Given the description of an element on the screen output the (x, y) to click on. 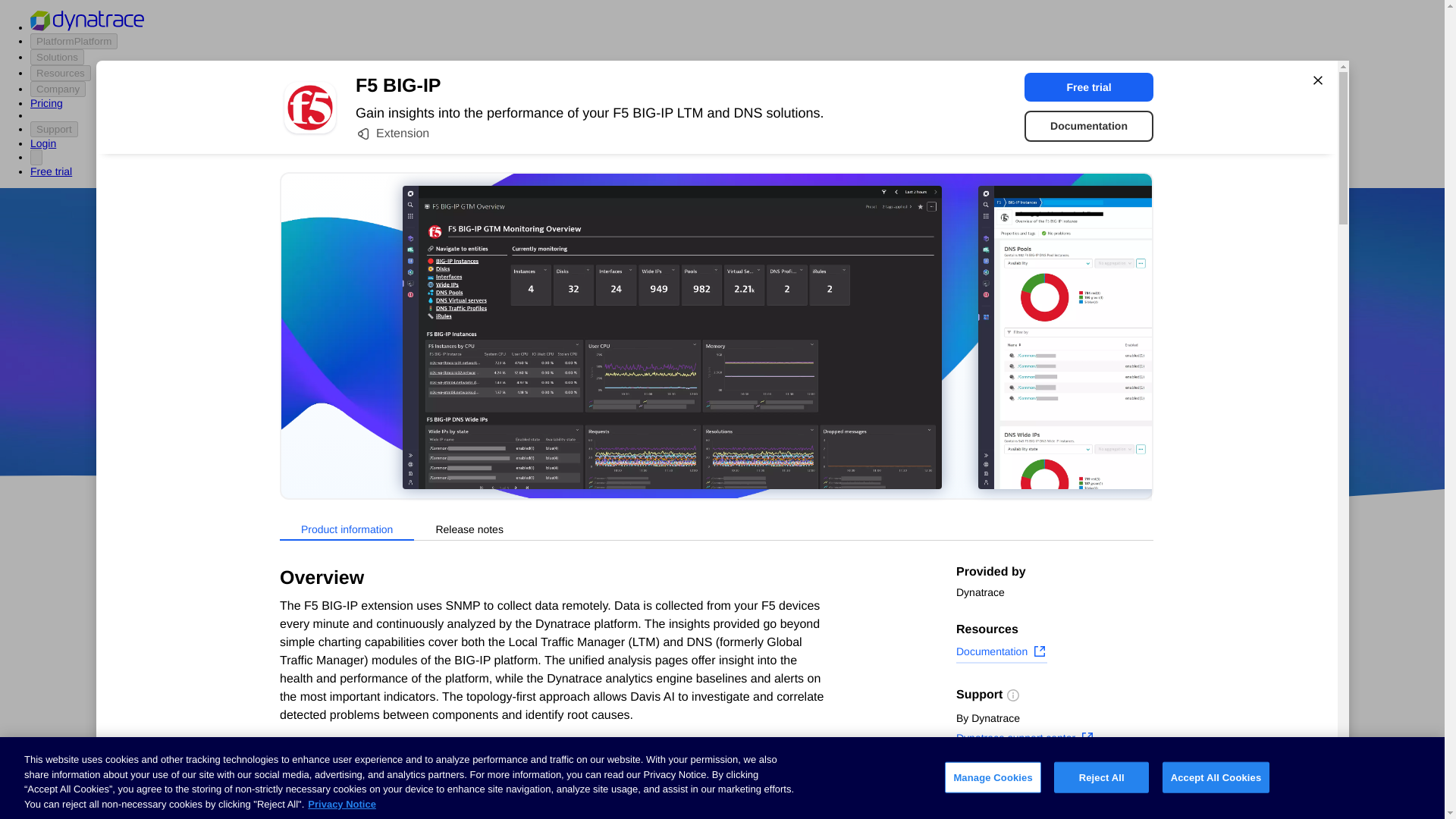
Dynatrace support center (1025, 740)
Advanced SSL Certificate Check for Dynatrace (606, 731)
DevOps (829, 418)
Free trial (1089, 86)
360performance (840, 375)
Subscribe to new releases (1054, 782)
AWS (637, 418)
Google Cloud (751, 418)
Azure (681, 418)
Open source (903, 418)
360performance (840, 375)
Copy page link (1003, 806)
Documentation (1089, 125)
 certificate ssl synthetic test (607, 793)
Documentation (1001, 653)
